Given the description of an element on the screen output the (x, y) to click on. 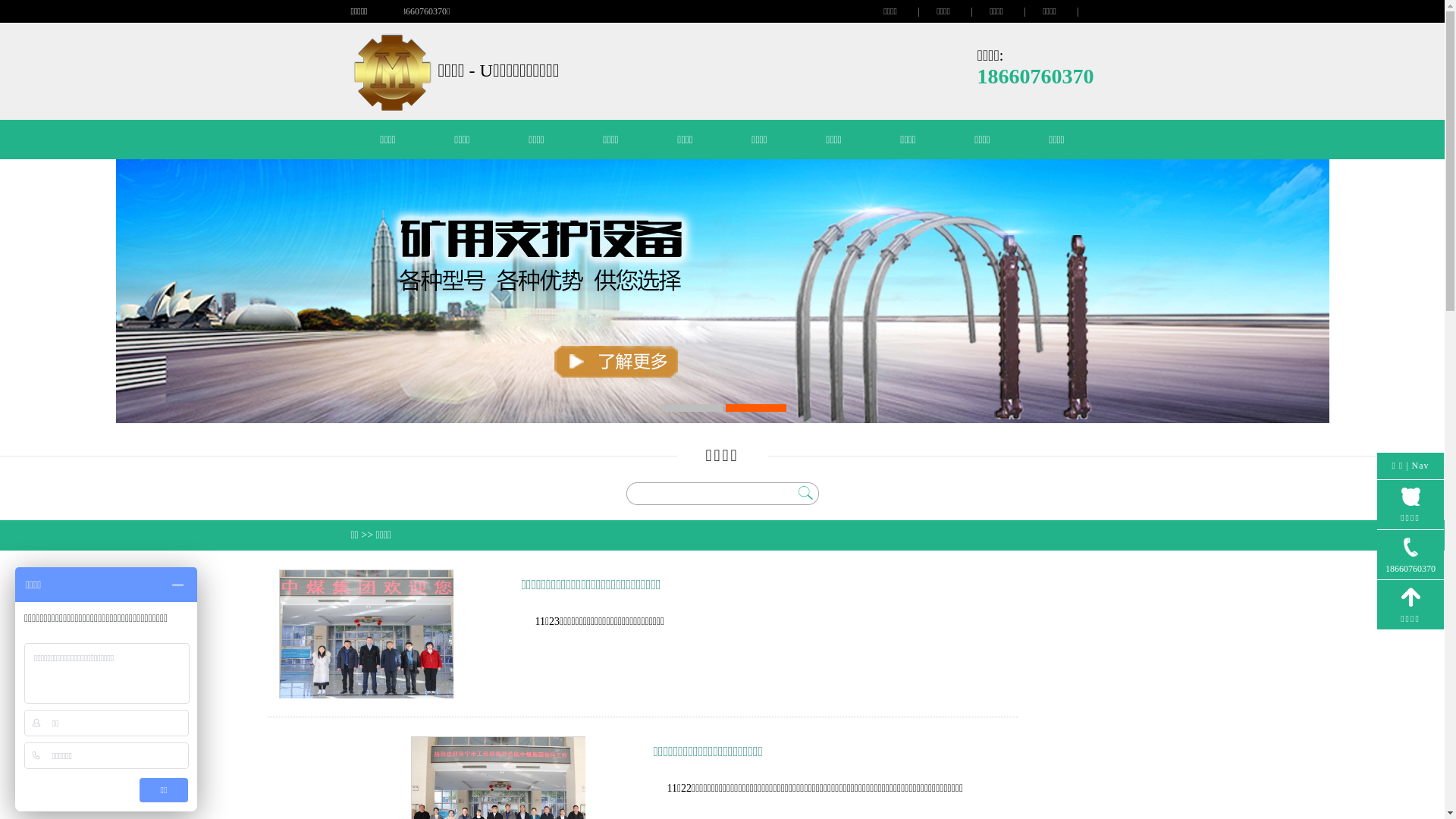
18660760370 Element type: text (1410, 555)
2 Element type: text (754, 407)
1 Element type: text (691, 407)
